Given the description of an element on the screen output the (x, y) to click on. 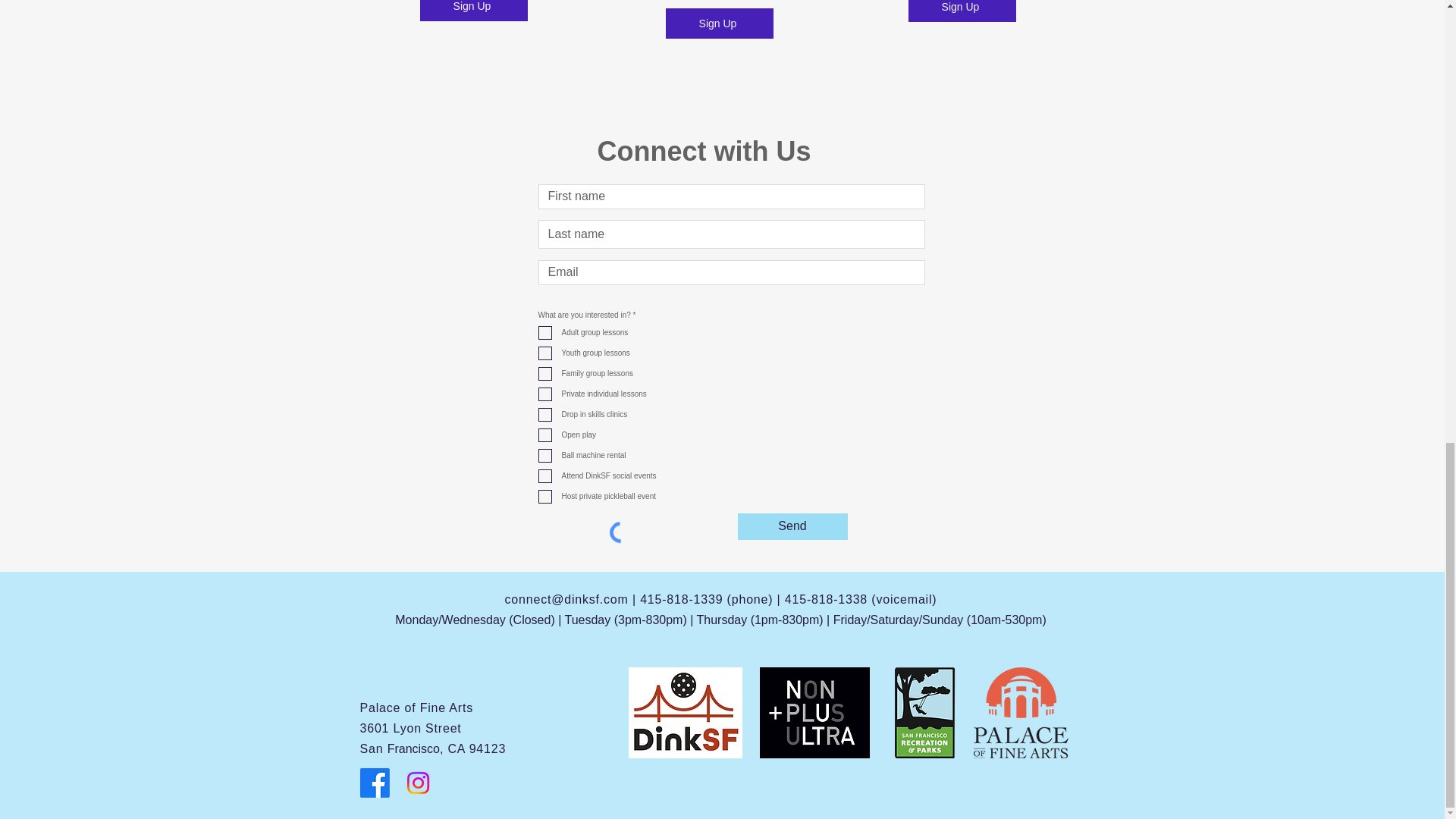
Send (791, 526)
Sign Up (719, 23)
Sign Up (962, 11)
Sign Up (473, 10)
